Given the description of an element on the screen output the (x, y) to click on. 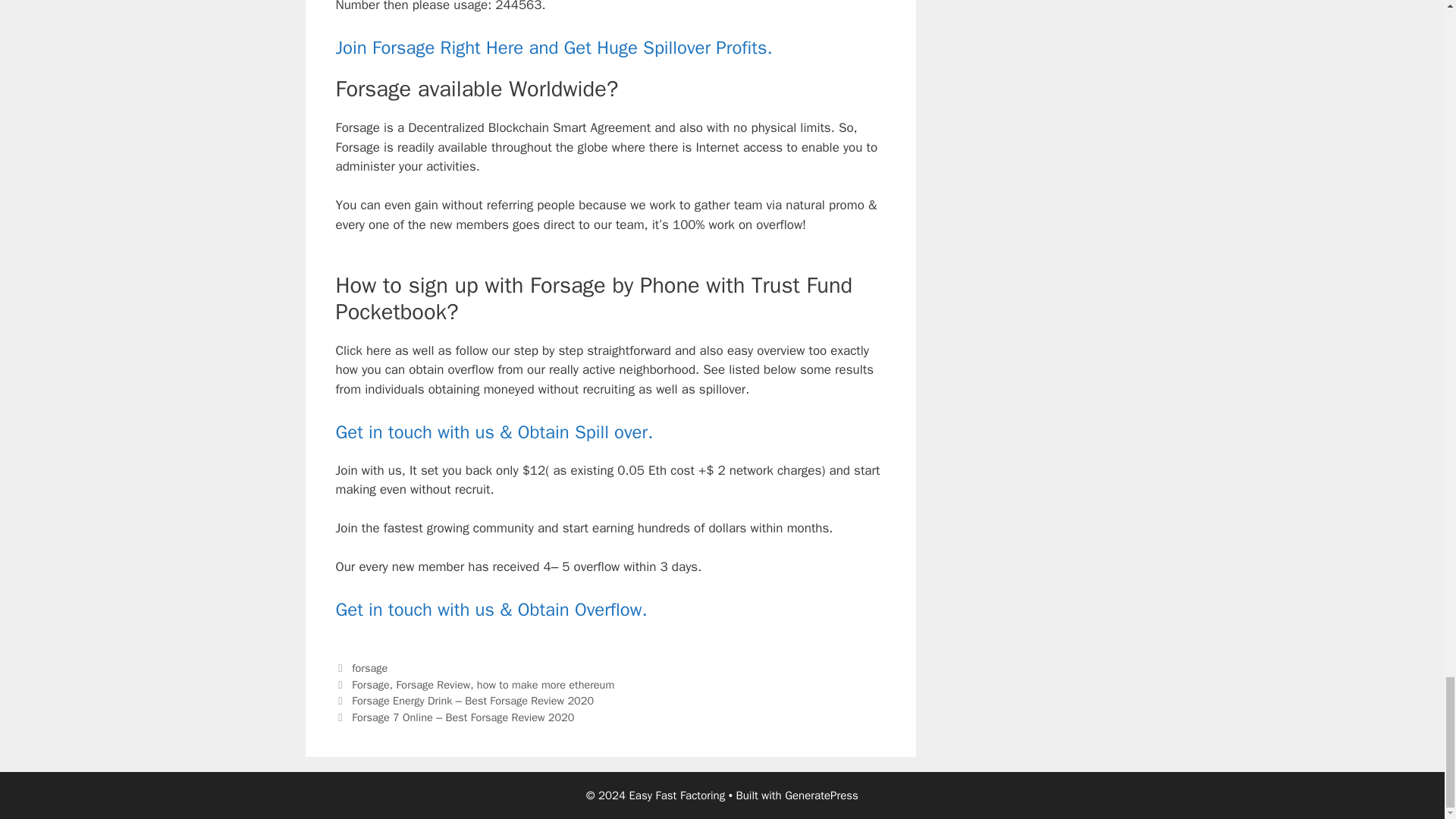
Join Forsage Right Here and Get Huge Spillover Profits. (552, 47)
forsage (369, 667)
Forsage (371, 684)
how to make more ethereum (545, 684)
GeneratePress (821, 795)
Forsage Review (433, 684)
